Given the description of an element on the screen output the (x, y) to click on. 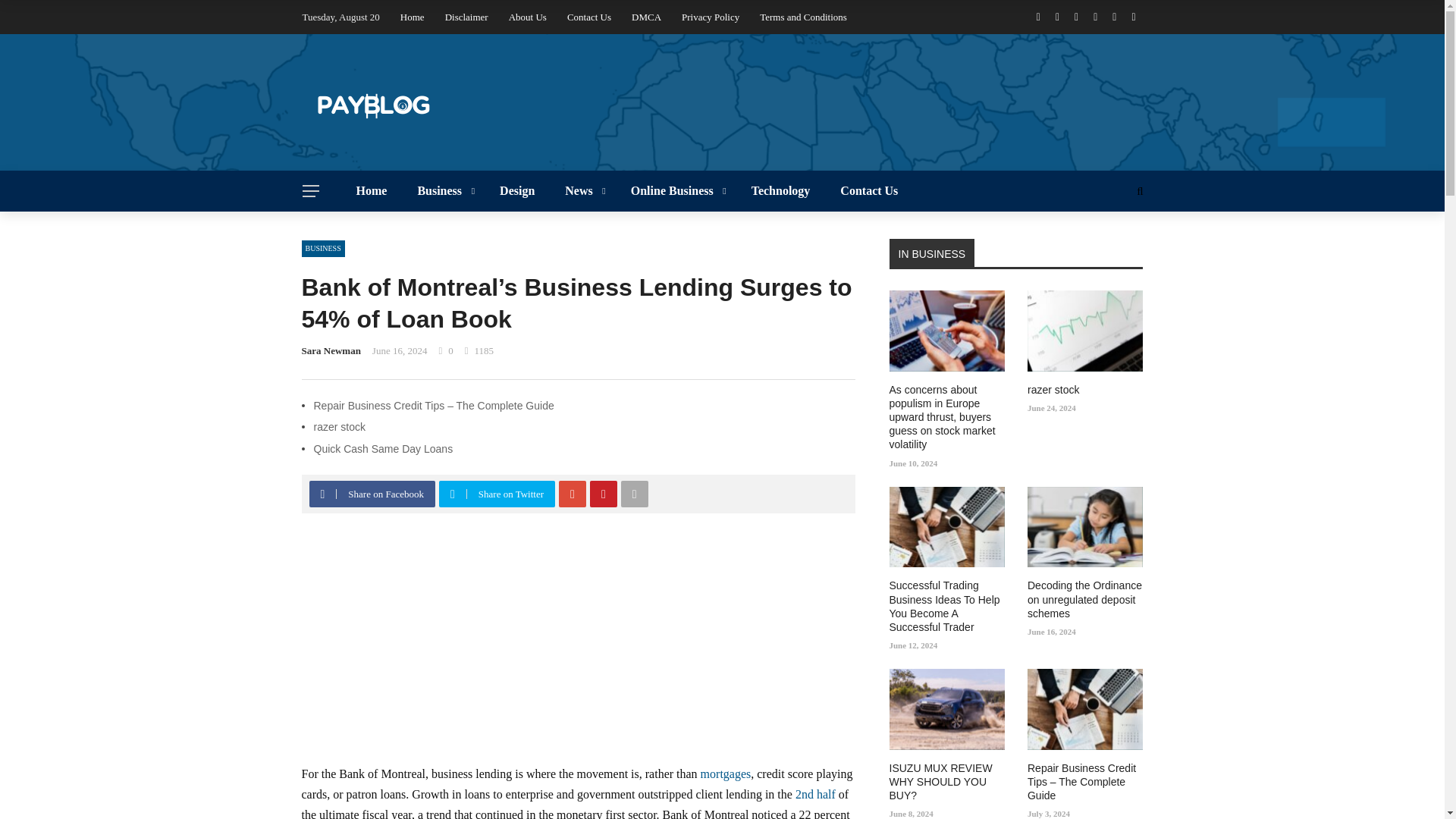
Home (371, 190)
Terms and Conditions (803, 16)
Home (412, 16)
Business (442, 190)
About Us (527, 16)
Privacy Policy (710, 16)
News (582, 190)
Disclaimer (466, 16)
Advertisement (578, 649)
DMCA (646, 16)
